Given the description of an element on the screen output the (x, y) to click on. 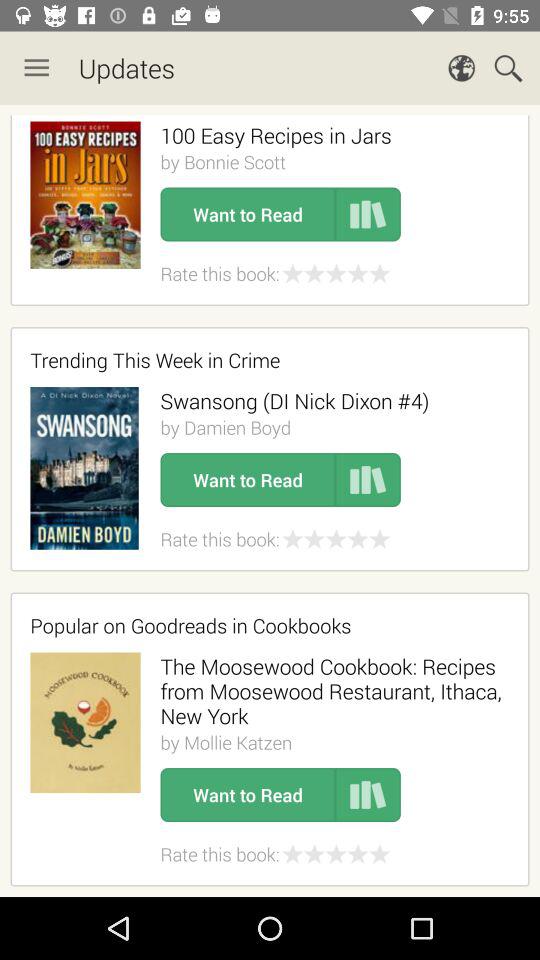
turn off the icon below 100 easy recipes item (223, 161)
